Given the description of an element on the screen output the (x, y) to click on. 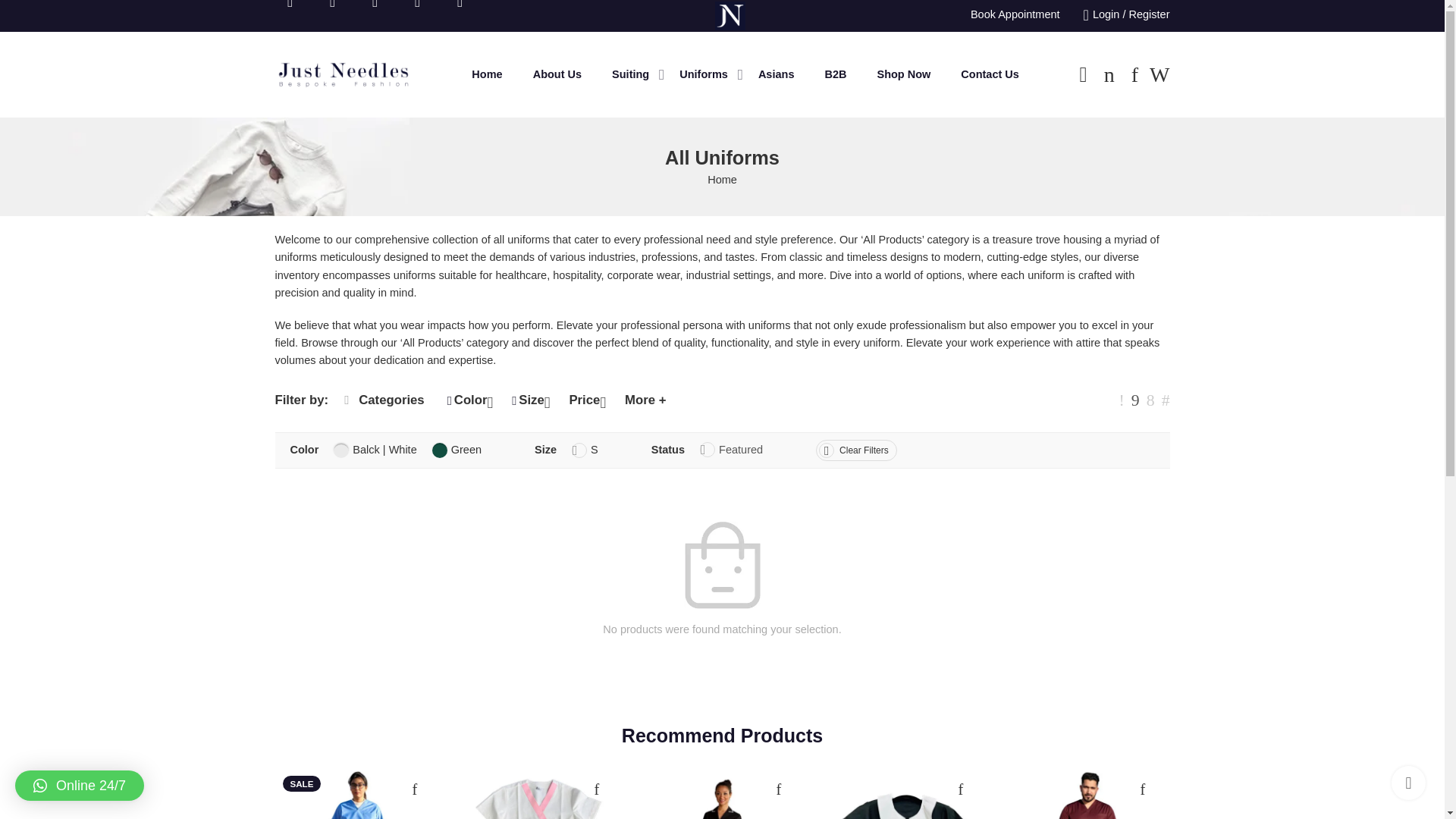
Wishlist (1134, 74)
About Us (556, 74)
Home (721, 180)
Uniforms (703, 74)
Asians (776, 74)
Categories (384, 400)
B2B (834, 74)
Home (486, 74)
Book Appointment (1015, 14)
Contact Us (989, 74)
Suiting (630, 74)
Suiting (630, 74)
About Us (556, 74)
Color (471, 400)
Book Appointment (1015, 14)
